Given the description of an element on the screen output the (x, y) to click on. 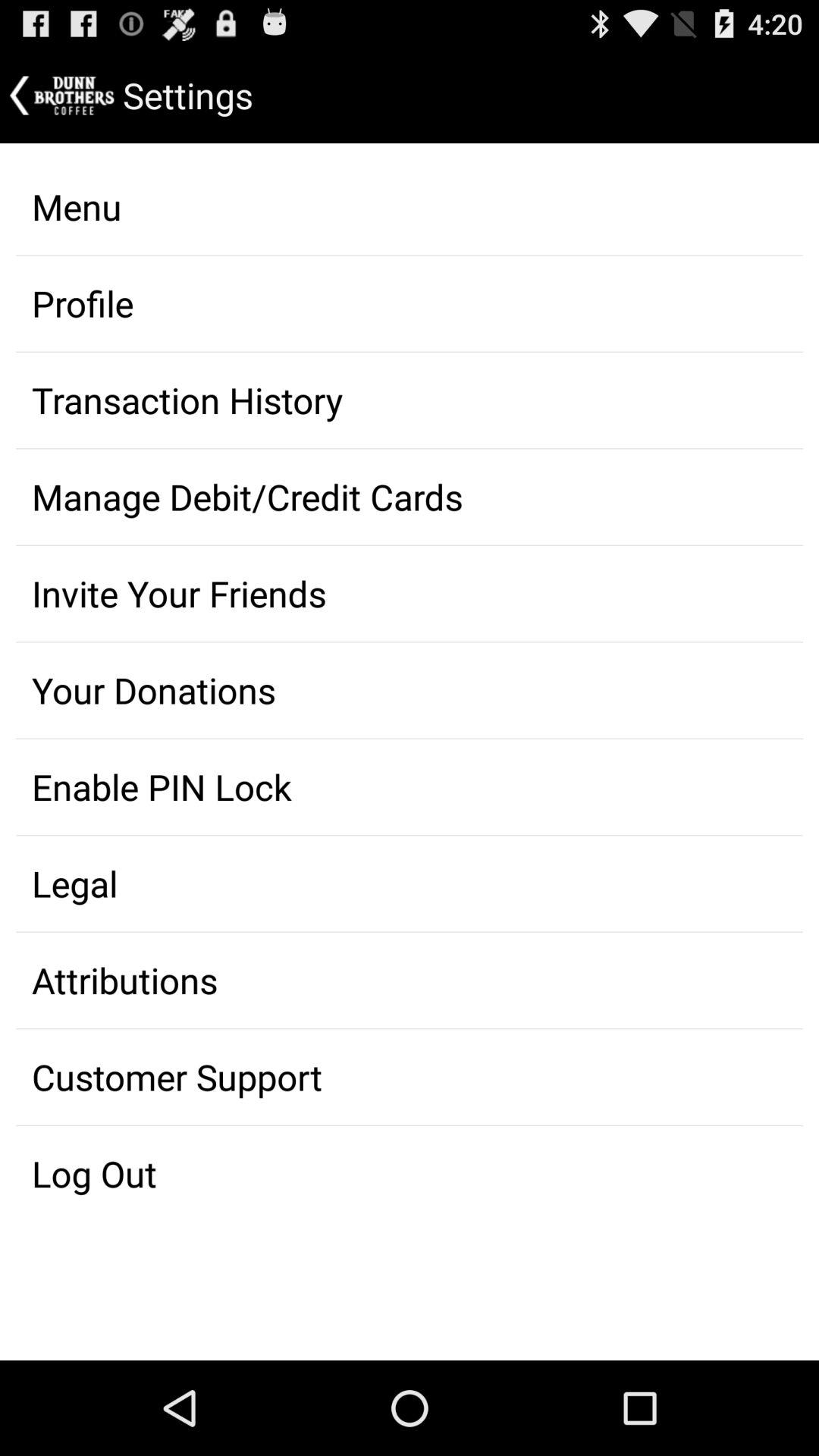
click app below the enable pin lock (409, 883)
